Given the description of an element on the screen output the (x, y) to click on. 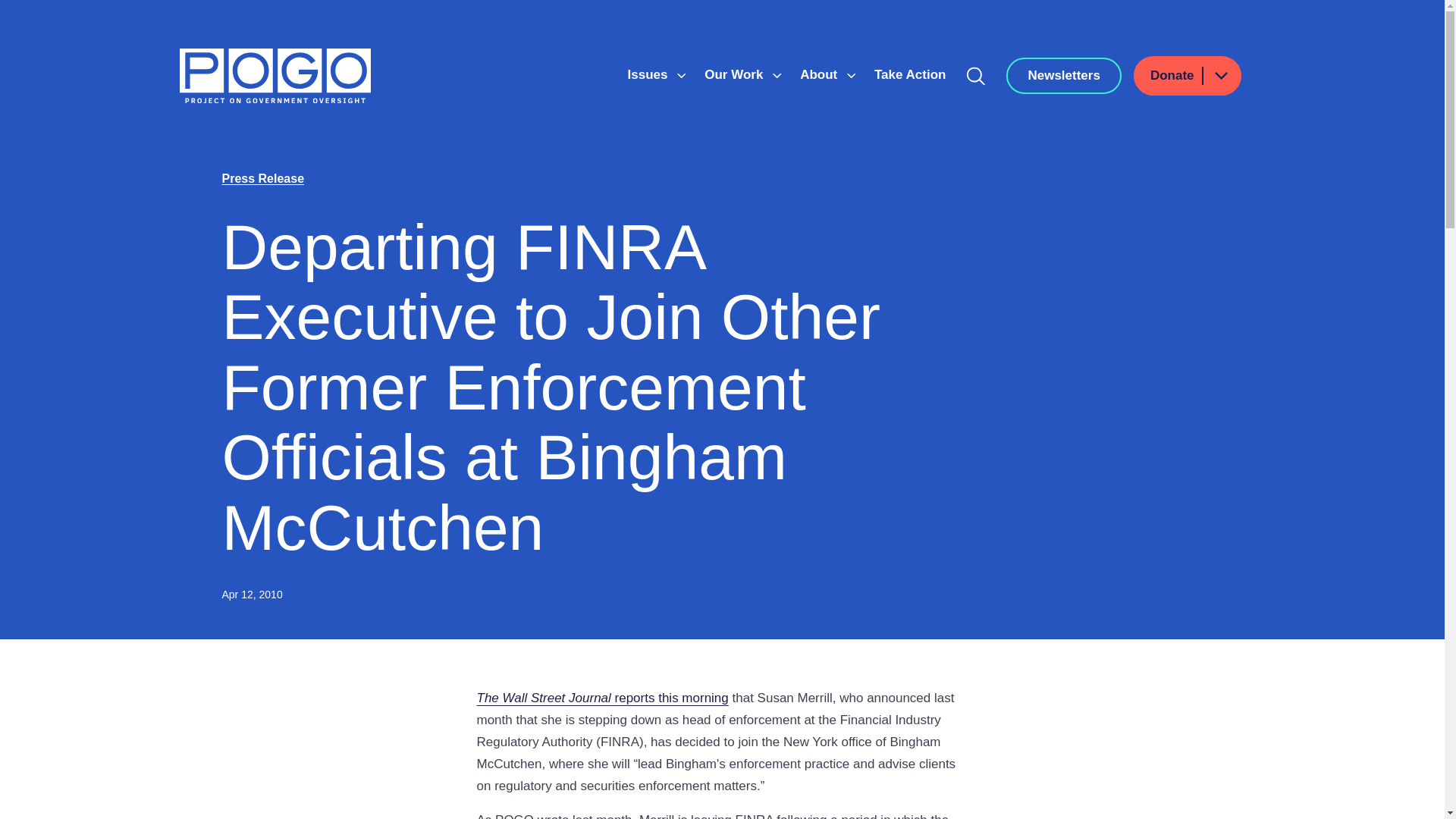
Newsletters (1063, 75)
Home (274, 75)
Search (976, 75)
Show submenu for Donate (1220, 75)
Show submenu for About (851, 75)
About (820, 74)
Show submenu for Issues (681, 75)
Our Work (735, 74)
Donate (1187, 75)
Issues (649, 74)
Show submenu for Our Work (777, 75)
Take Action (909, 74)
